Given the description of an element on the screen output the (x, y) to click on. 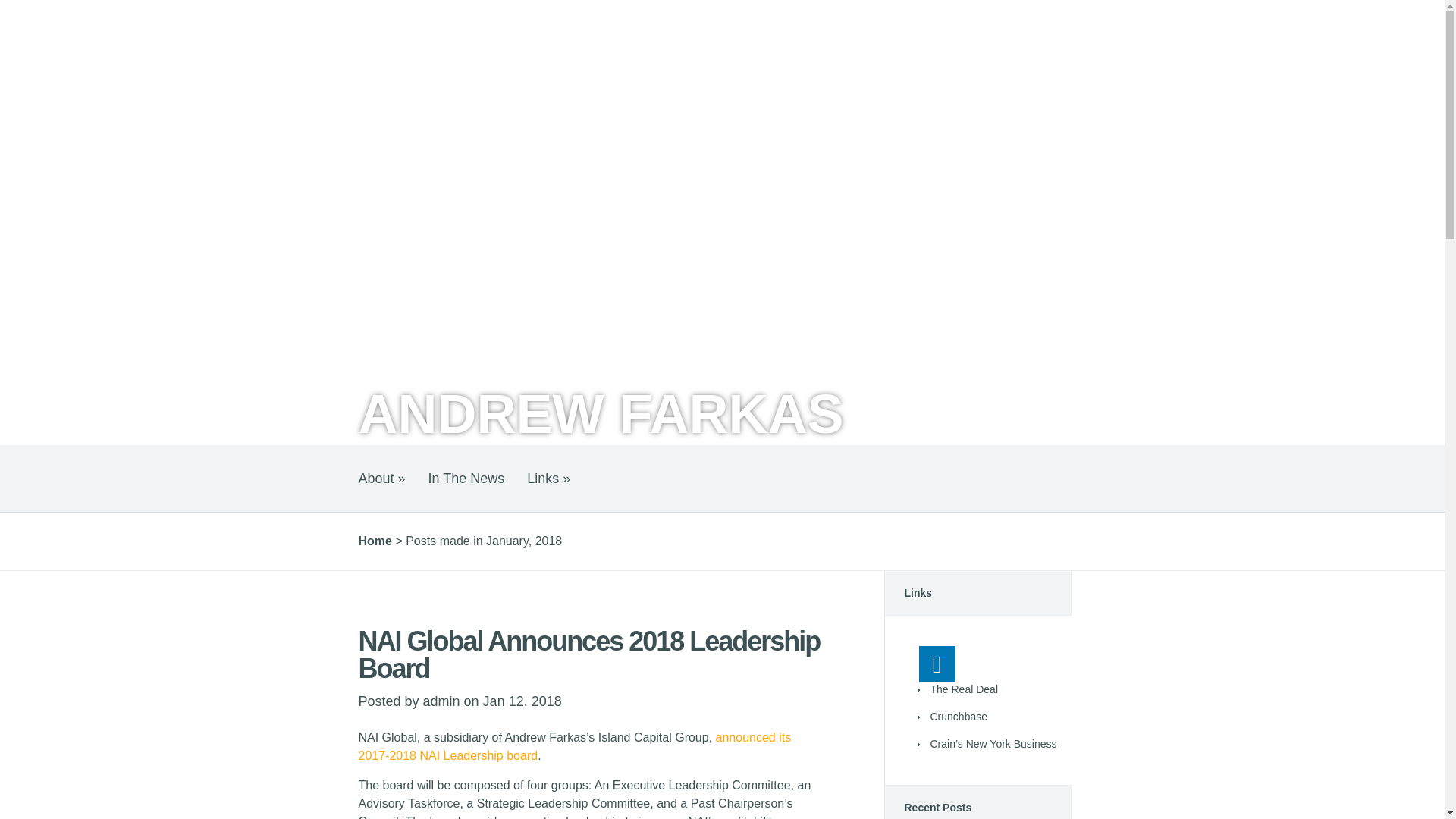
The Real Deal (963, 689)
NAI Global Announces 2018 Leadership Board (588, 654)
admin (441, 701)
Posts by admin (441, 701)
Crunchbase (958, 716)
In The News (466, 478)
ANDREW FARKAS (600, 414)
Home (374, 540)
LinkedIn (936, 664)
announced its 2017-2018 NAI Leadership board (574, 746)
